Given the description of an element on the screen output the (x, y) to click on. 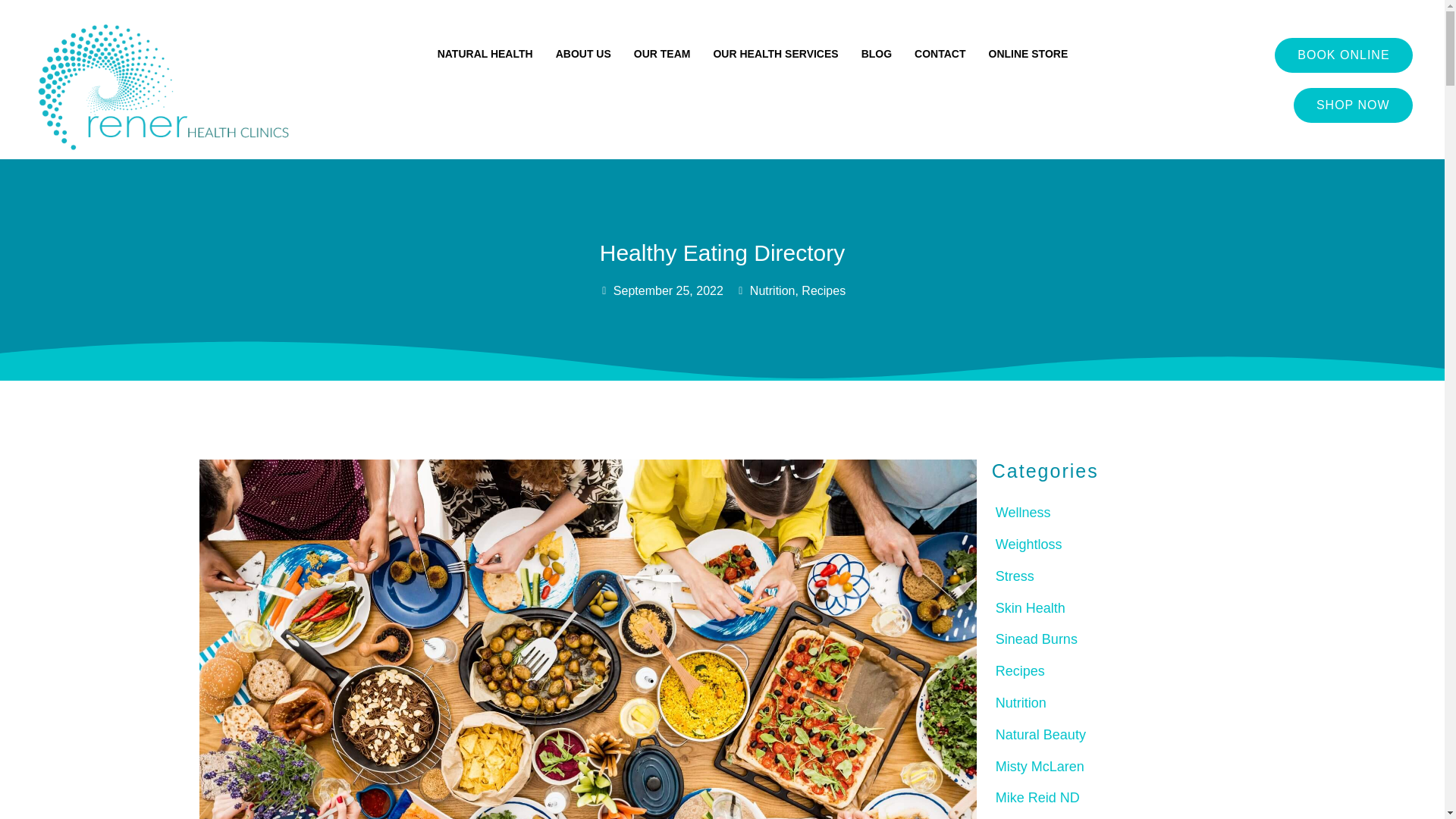
OUR HEALTH SERVICES (775, 53)
Recipes (823, 290)
September 25, 2022 (660, 290)
ONLINE STORE (1028, 53)
BOOK ONLINE (1343, 54)
CONTACT (939, 53)
SHOP NOW (1353, 104)
BLOG (876, 53)
NATURAL HEALTH (485, 53)
OUR TEAM (661, 53)
